Given the description of an element on the screen output the (x, y) to click on. 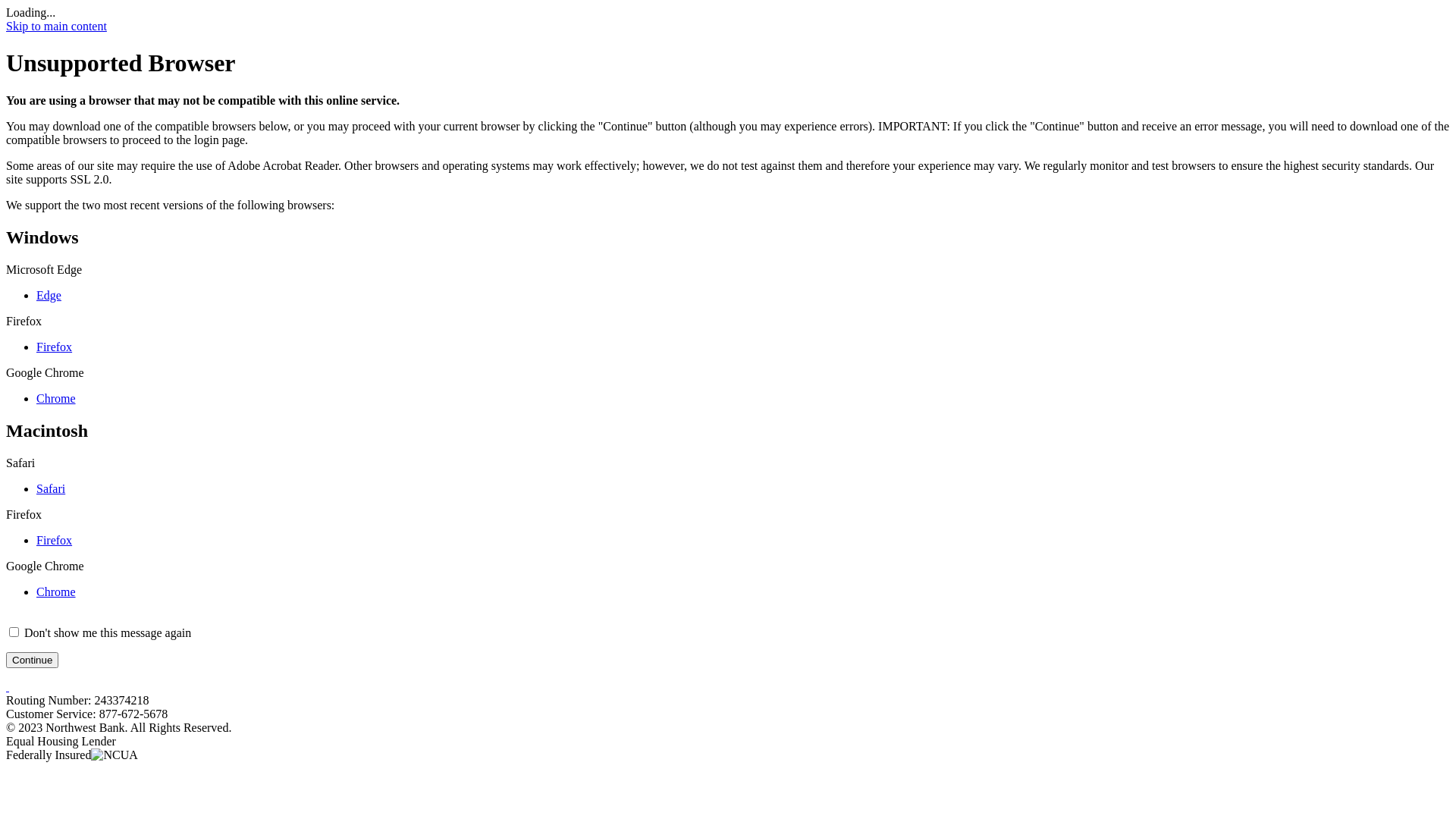
Firefox Element type: text (54, 346)
Chrome Element type: text (55, 398)
Refresh Element type: text (23, 7)
Firefox Element type: text (54, 539)
Ascend.com Element type: hover (7, 685)
Continue Element type: text (32, 660)
Safari Element type: text (50, 488)
Chrome Element type: text (55, 591)
Edge Element type: text (48, 294)
Skip to main content Element type: text (56, 25)
